Given the description of an element on the screen output the (x, y) to click on. 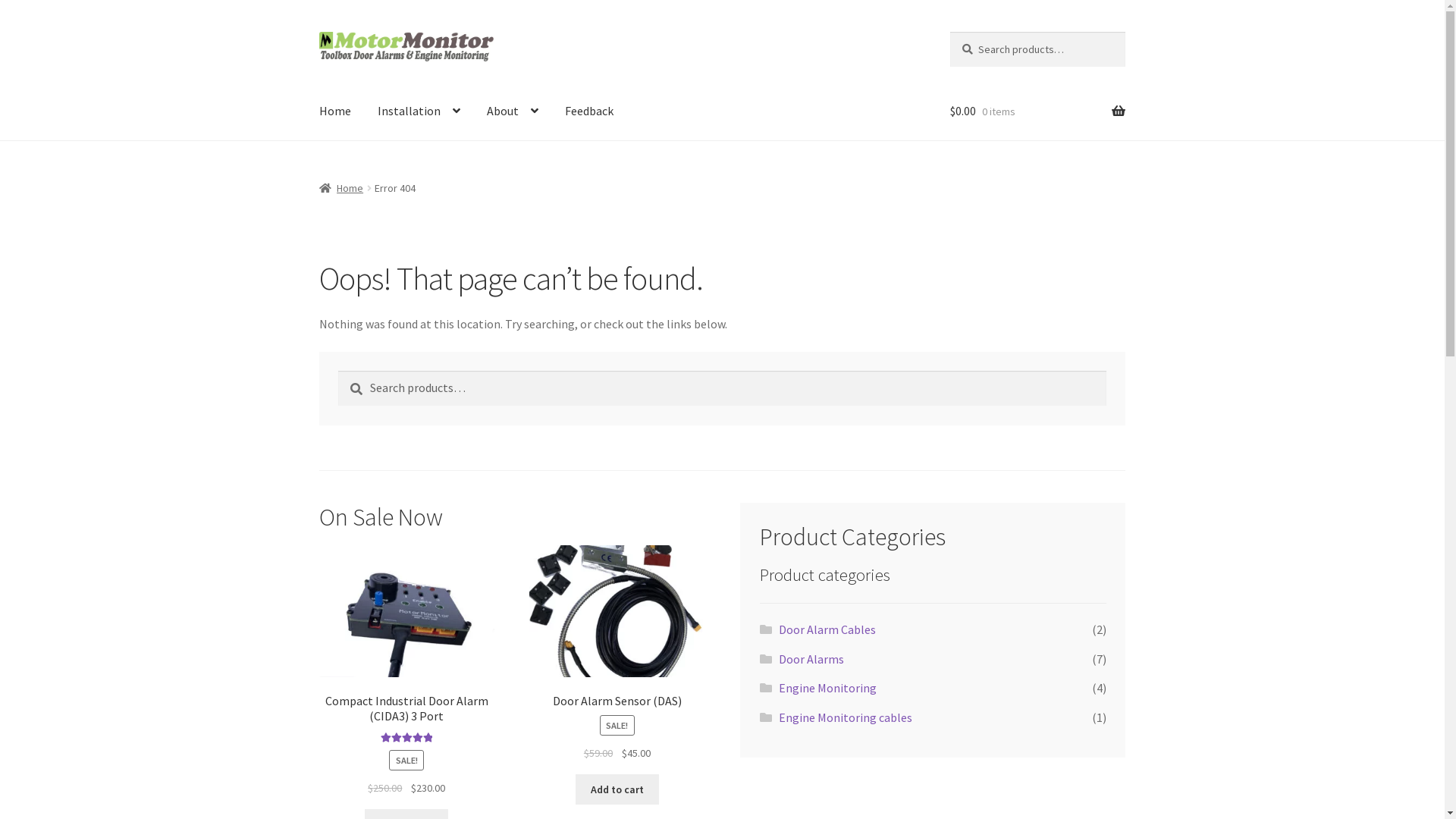
About Element type: text (512, 111)
Search Element type: text (337, 370)
Home Element type: text (335, 111)
Door Alarm Cables Element type: text (826, 629)
Door Alarm Sensor (DAS)
SALE!
$59.00 $45.00 Element type: text (616, 653)
Search Element type: text (949, 31)
$0.00 0 items Element type: text (1037, 111)
Skip to navigation Element type: text (318, 31)
Home Element type: text (341, 187)
Feedback Element type: text (588, 111)
Engine Monitoring Element type: text (827, 687)
Installation Element type: text (418, 111)
Engine Monitoring cables Element type: text (845, 716)
Add to cart Element type: text (616, 789)
Door Alarms Element type: text (811, 658)
